Given the description of an element on the screen output the (x, y) to click on. 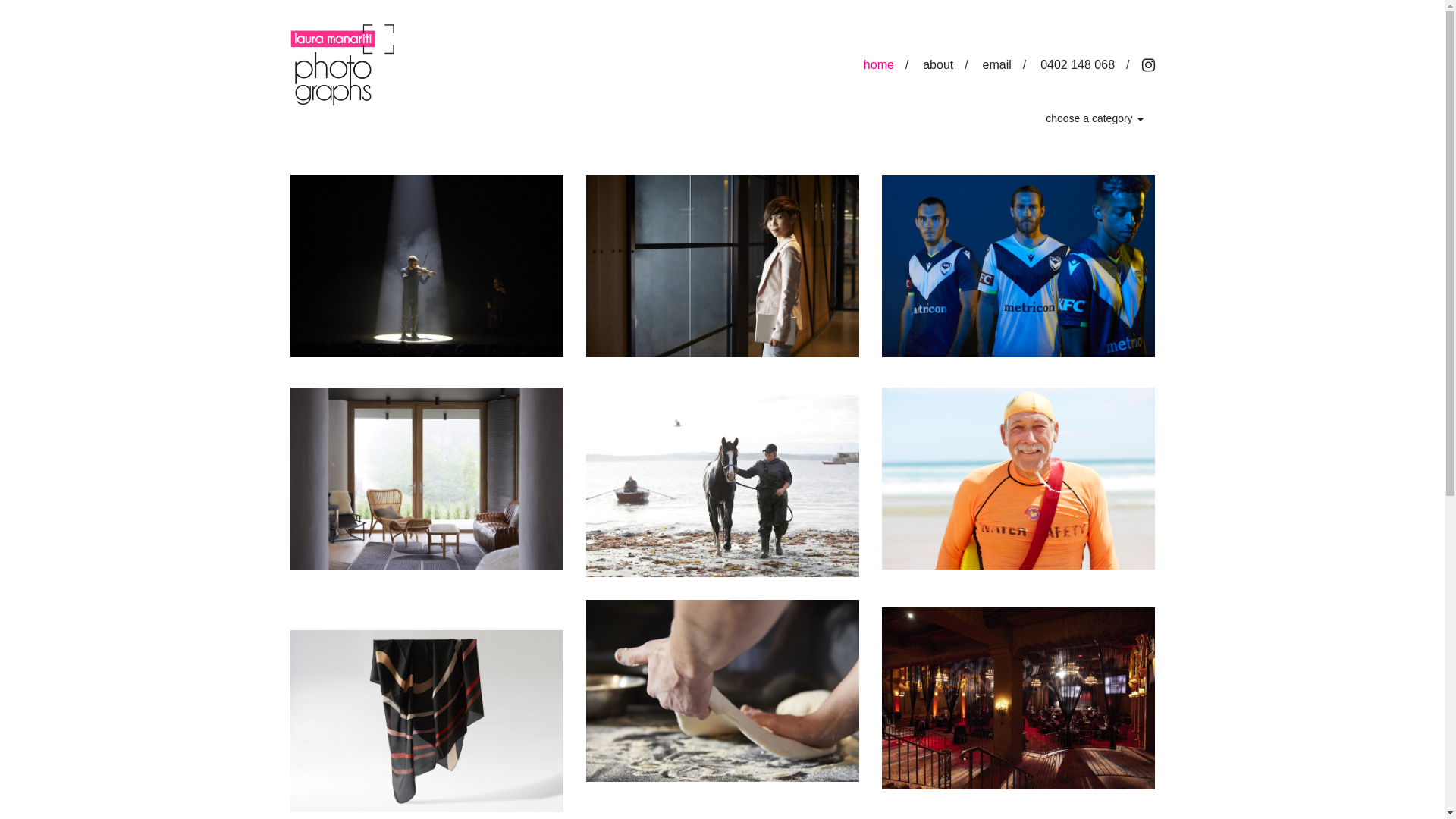
choose a category Element type: text (1094, 117)
0402 148 068 Element type: text (1077, 65)
home Element type: text (878, 65)
email Element type: text (996, 65)
about Element type: text (937, 65)
